Given the description of an element on the screen output the (x, y) to click on. 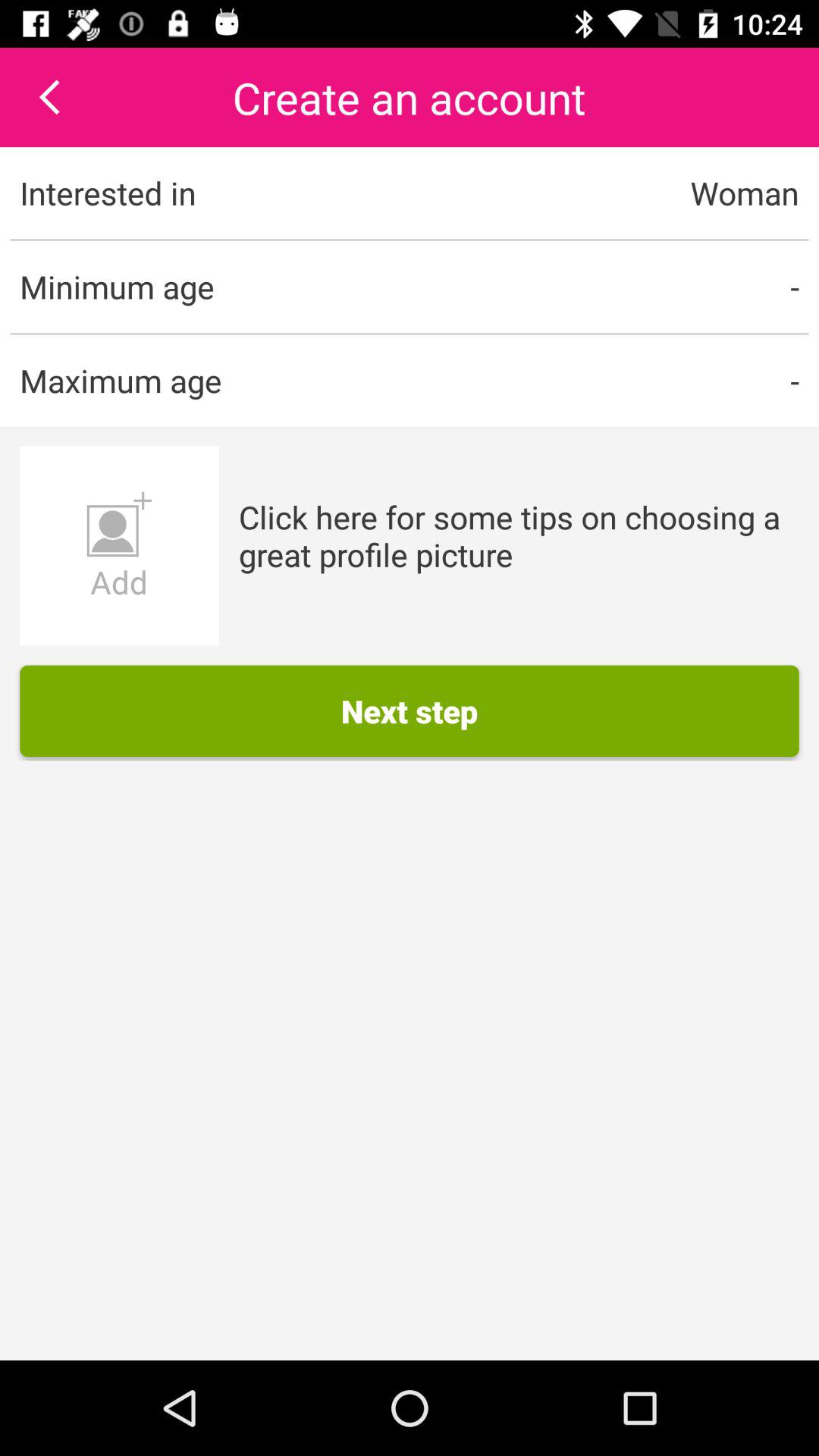
turn off the item to the left of the click here for (118, 545)
